Given the description of an element on the screen output the (x, y) to click on. 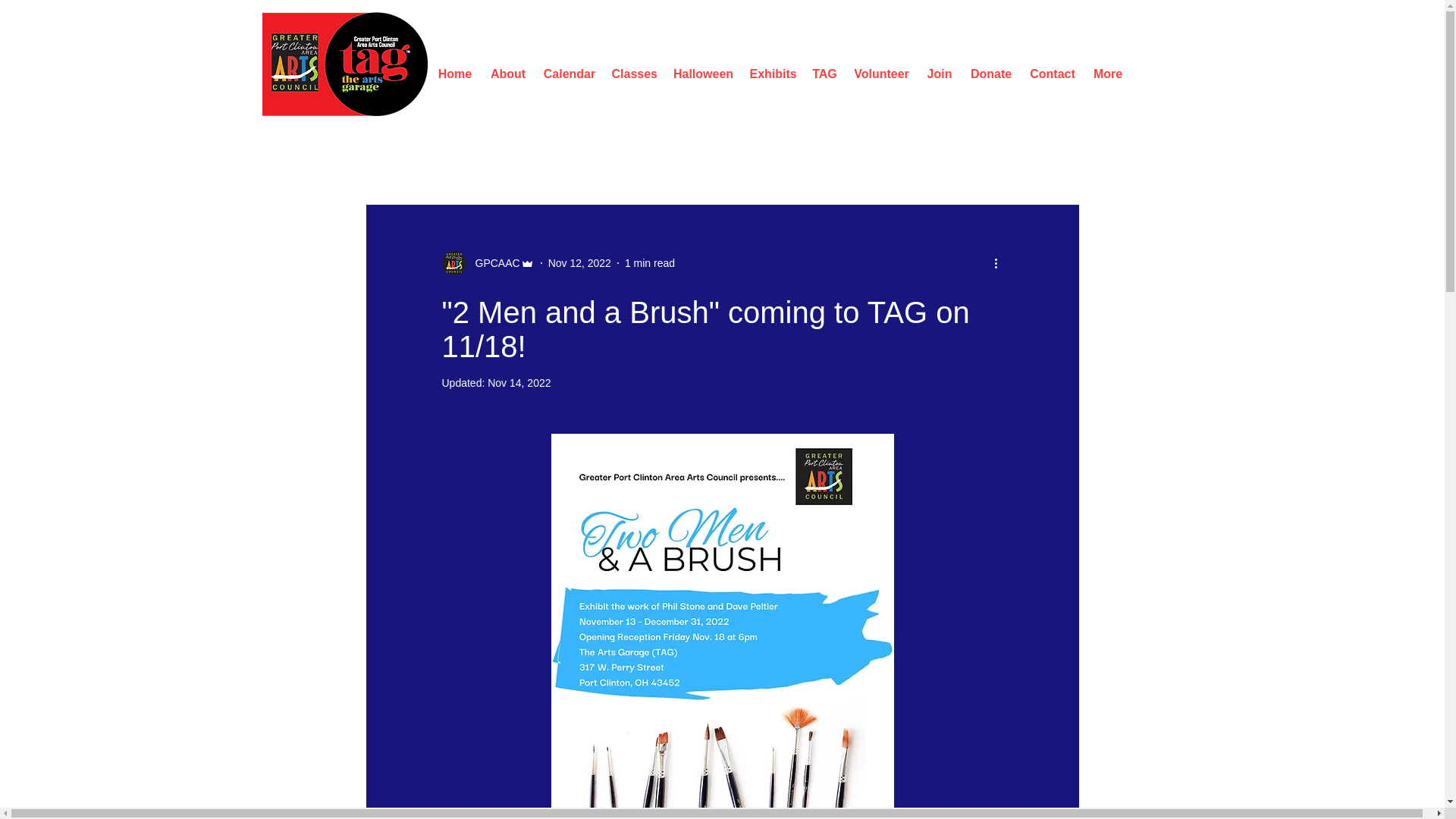
Exhibits (772, 73)
Nov 14, 2022 (518, 382)
About (507, 73)
All Posts (388, 159)
Volunteer (880, 73)
Calendar (569, 73)
Contact (1051, 73)
1 min read (649, 262)
Home (455, 73)
Halloween (702, 73)
